Given the description of an element on the screen output the (x, y) to click on. 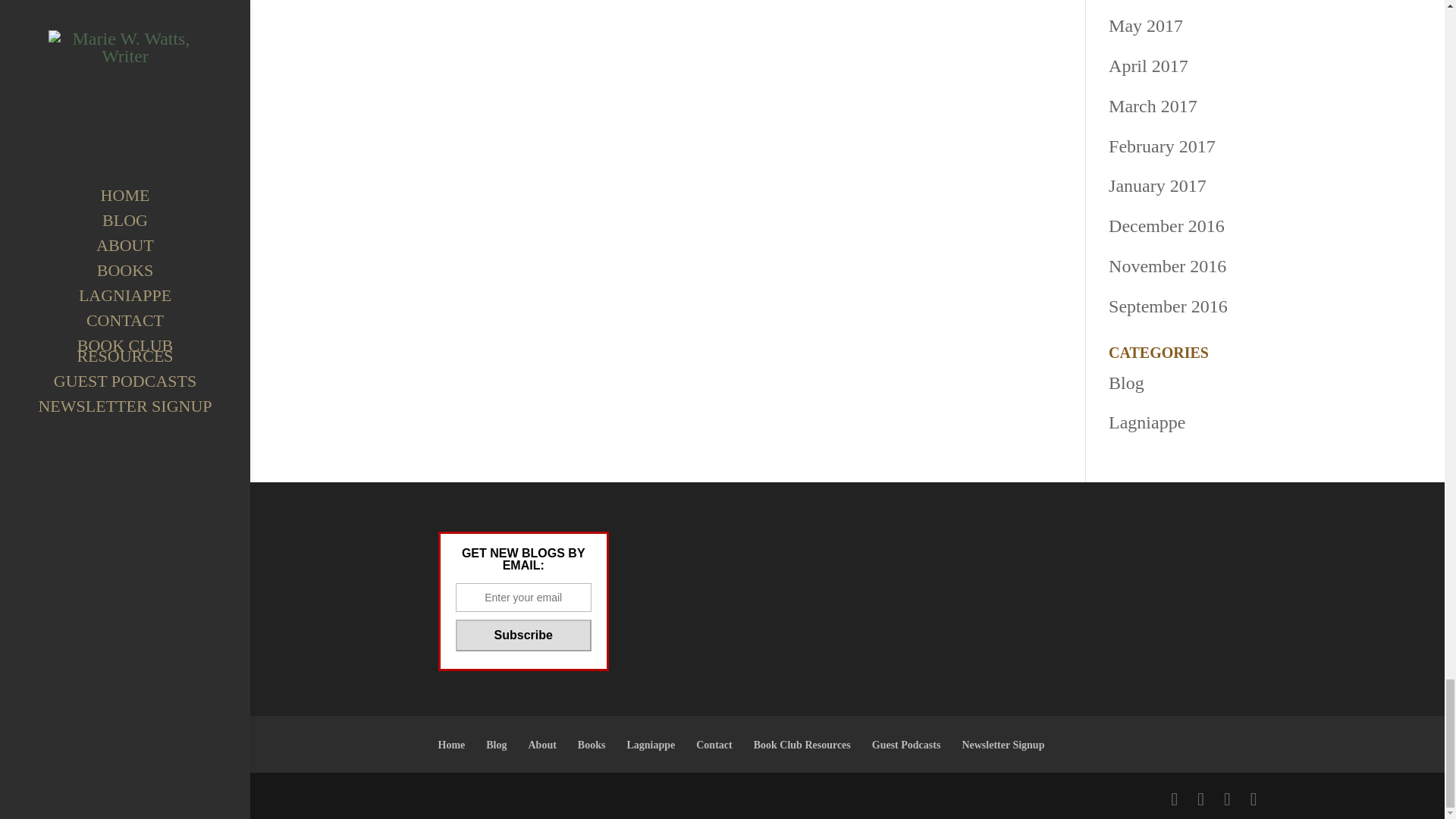
Subscribe (522, 635)
